Given the description of an element on the screen output the (x, y) to click on. 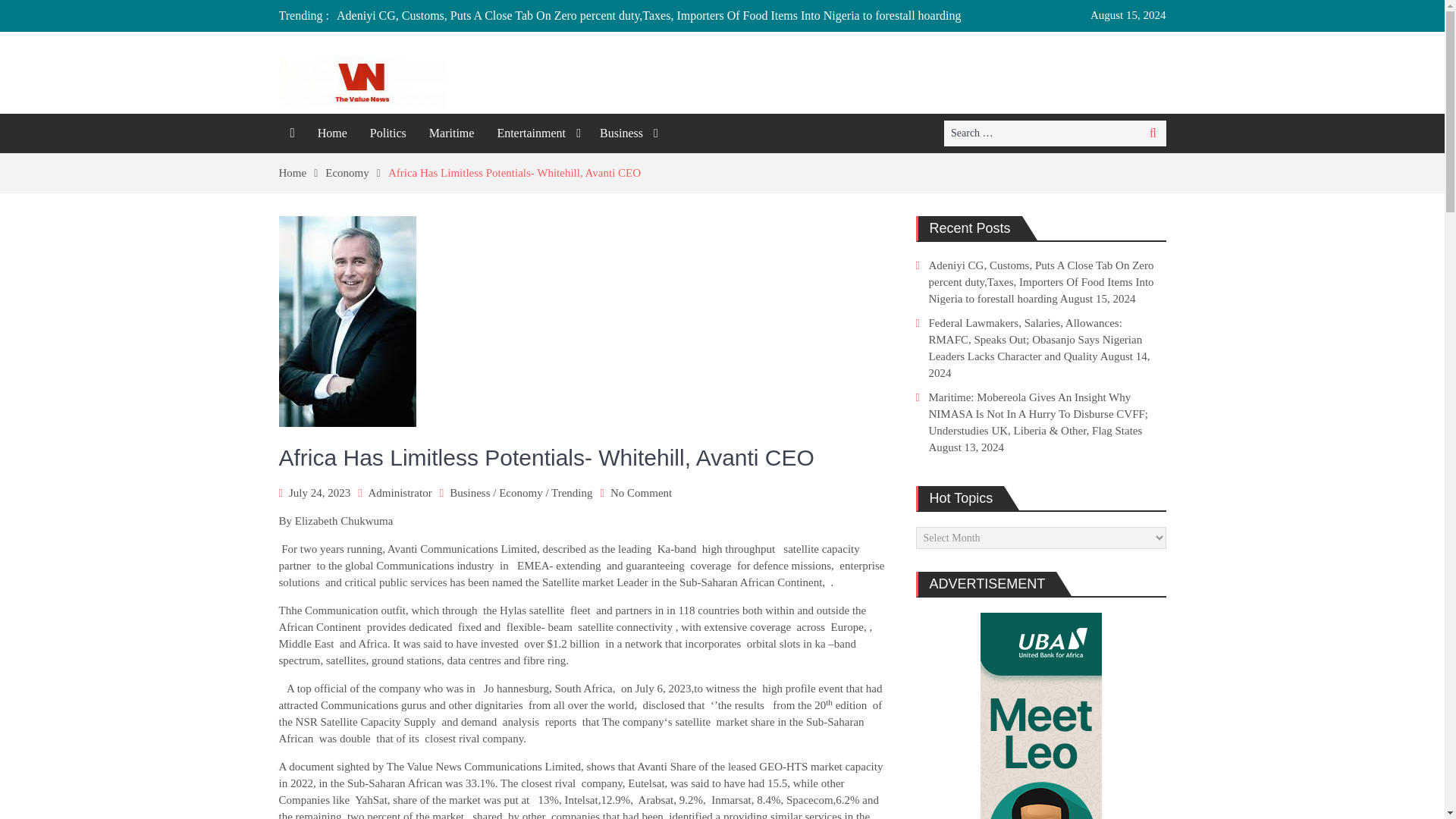
Maritime (451, 133)
Administrator (399, 492)
Economy (521, 492)
Home (331, 133)
Politics (387, 133)
Entertainment (536, 133)
Home (302, 173)
Economy (356, 173)
Business (626, 133)
